Given the description of an element on the screen output the (x, y) to click on. 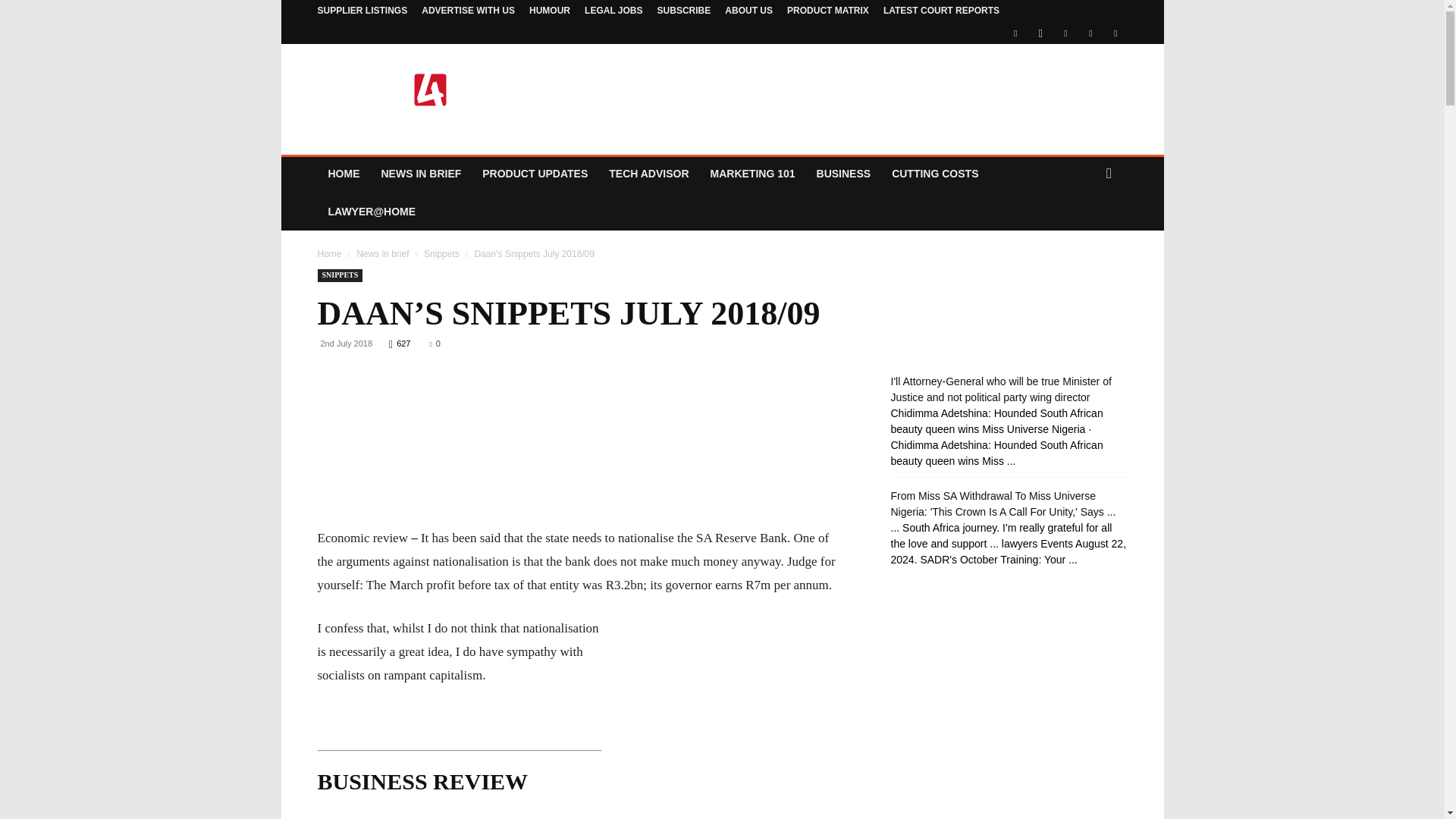
ADVERTISE WITH US (468, 9)
HOME (343, 173)
NEWS IN BRIEF (420, 173)
MARKETING 101 (753, 173)
View all posts in News in brief (382, 253)
LATEST COURT REPORTS (940, 9)
BUSINESS (844, 173)
PRODUCT UPDATES (534, 173)
HUMOUR (549, 9)
RSS (1090, 32)
